Given the description of an element on the screen output the (x, y) to click on. 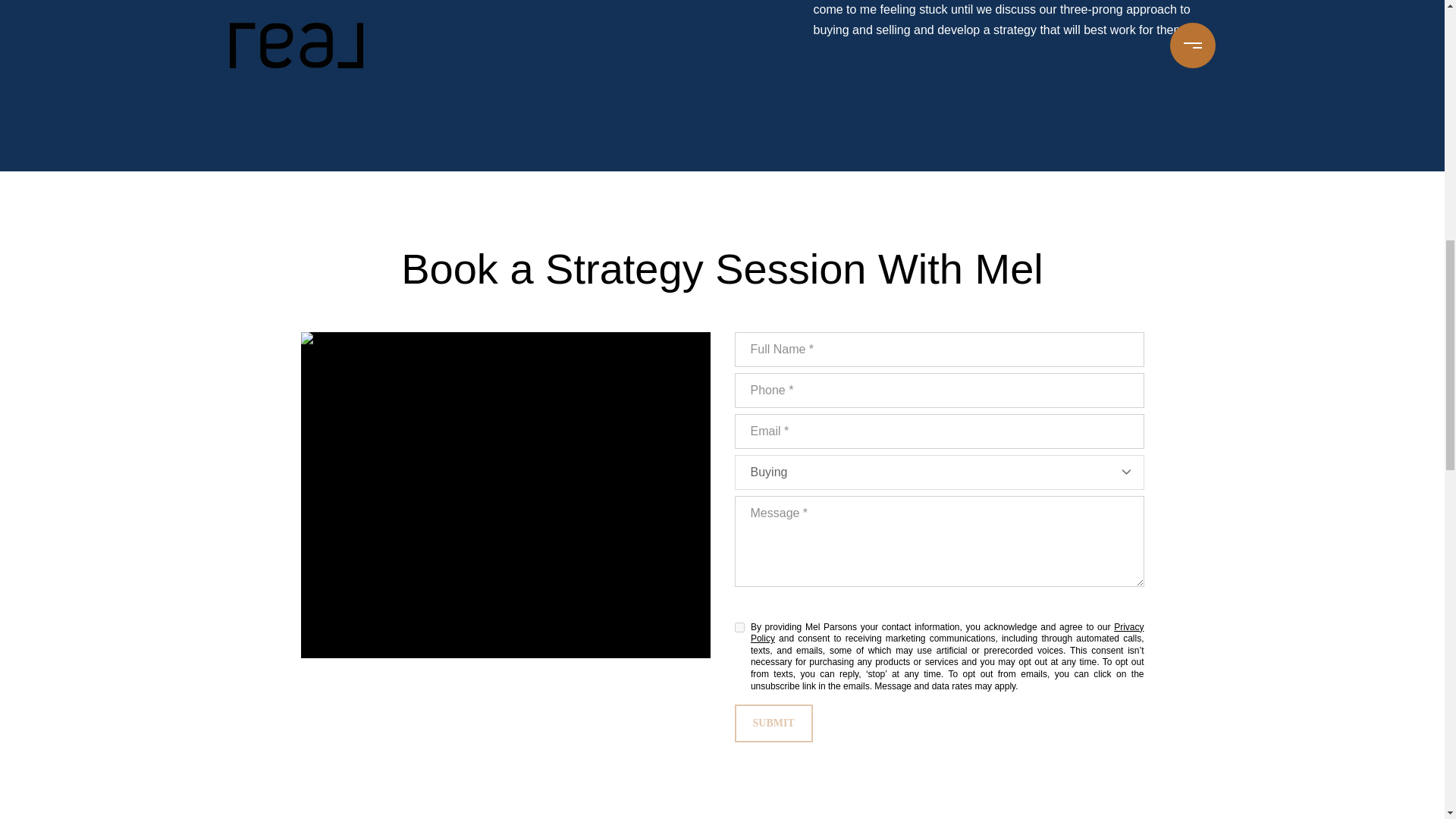
Privacy Policy (947, 632)
on (738, 627)
SUBMIT (772, 723)
